Given the description of an element on the screen output the (x, y) to click on. 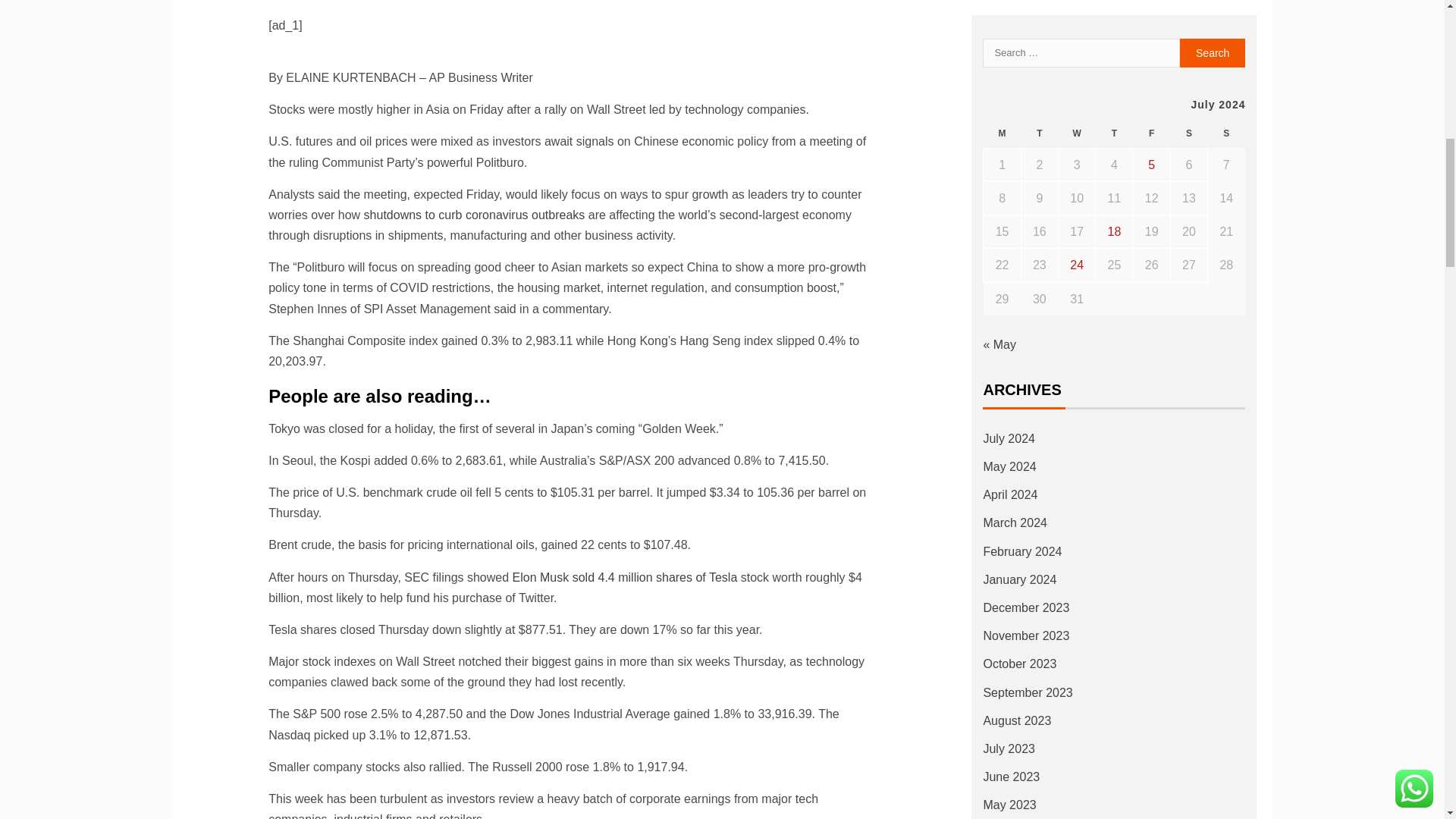
Search (1212, 52)
Search (1212, 52)
Elon Musk sold 4.4 million shares of Tesla (625, 576)
Thursday (1114, 133)
Wednesday (1077, 133)
Tuesday (1039, 133)
Friday (1151, 133)
Monday (1002, 133)
Saturday (1188, 133)
shutdowns to curb coronavirus outbreaks (474, 214)
Sunday (1226, 133)
